Given the description of an element on the screen output the (x, y) to click on. 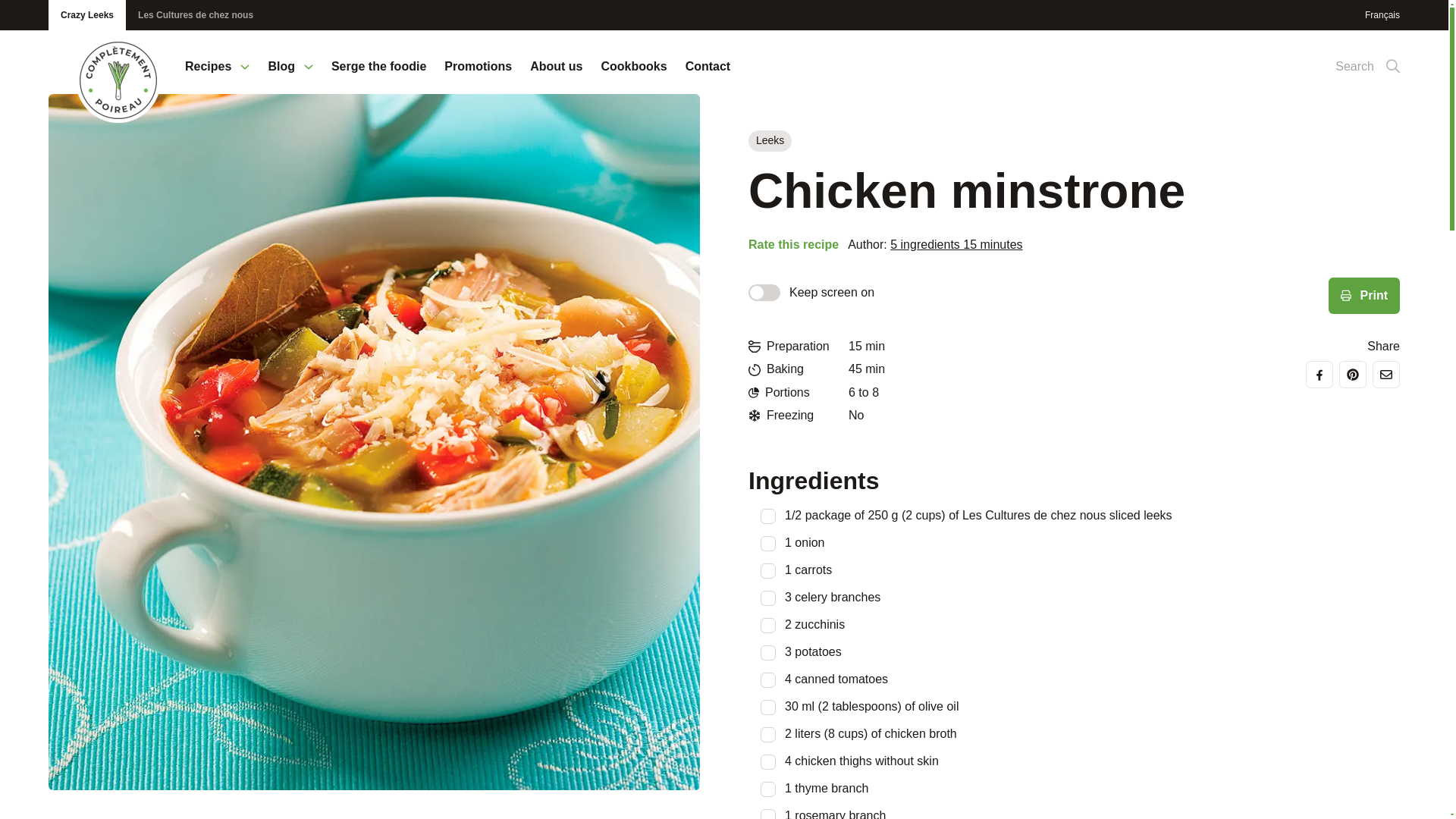
Cookbooks (632, 75)
Promotions (478, 75)
Blog (290, 75)
Crazy Leeks (86, 15)
Contact (707, 75)
Recipes (216, 75)
Serge the foodie (378, 75)
Les Cultures de chez nous (194, 15)
About us (555, 75)
